Given the description of an element on the screen output the (x, y) to click on. 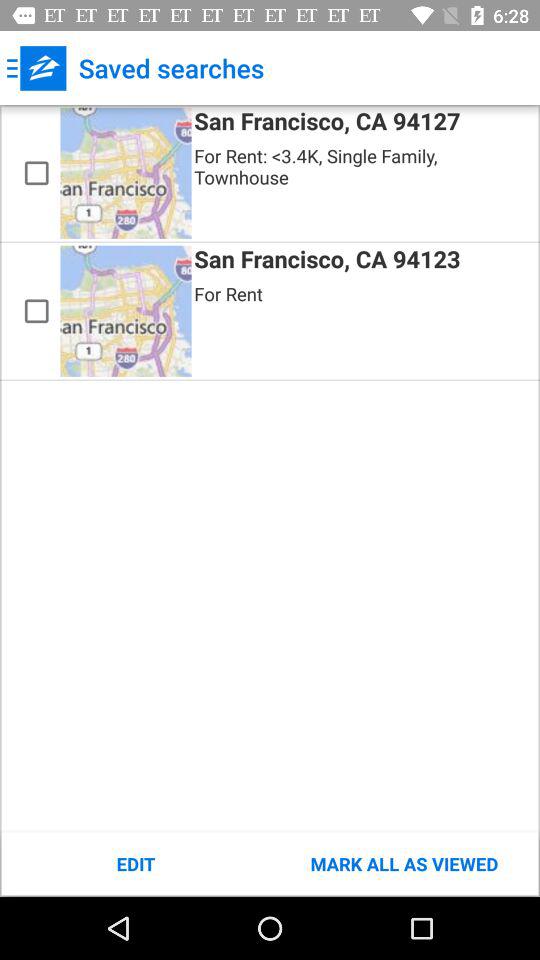
turn on app next to the saved searches (36, 68)
